Given the description of an element on the screen output the (x, y) to click on. 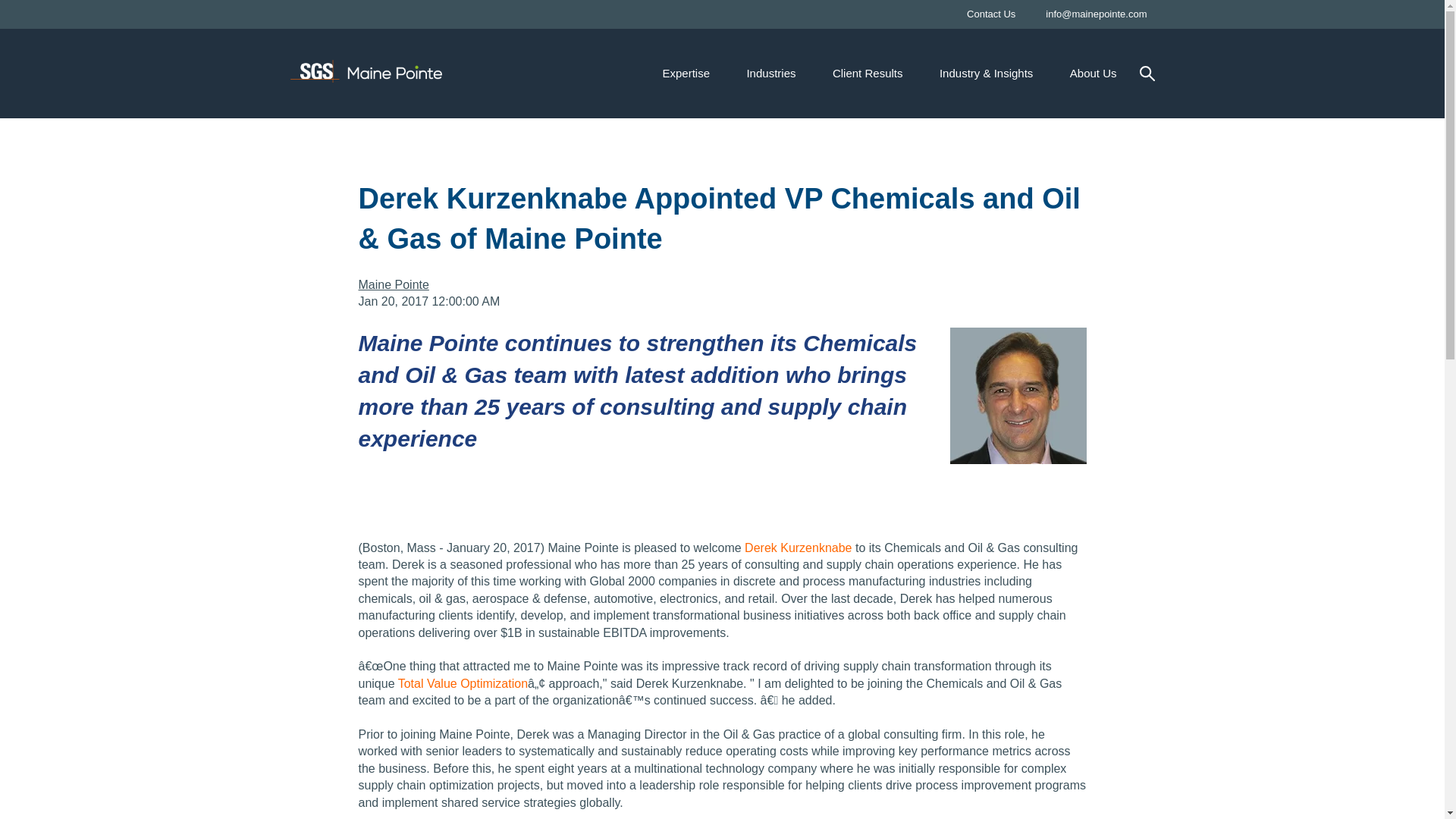
Client Results (867, 72)
Industries (769, 72)
About Us (1093, 72)
Contact Us (991, 14)
Expertise (686, 72)
